Given the description of an element on the screen output the (x, y) to click on. 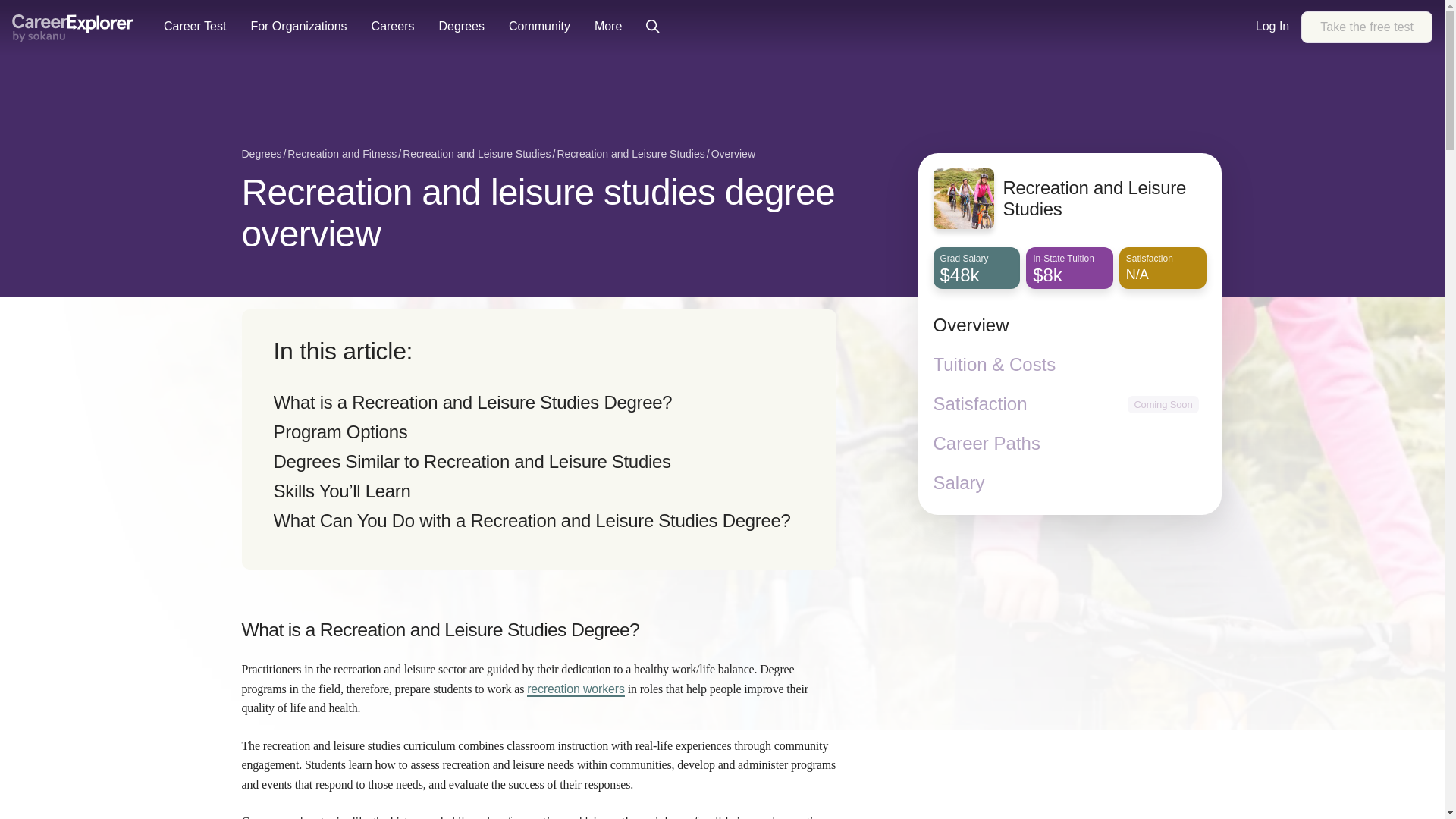
Recreation and Fitness (1366, 26)
What is a Recreation and Leisure Studies Degree? (341, 154)
Table of contents (472, 402)
CareerExplorer (340, 431)
Recreation and Leisure Studies (72, 28)
Overview (630, 154)
Degrees (733, 154)
For Organizations (261, 154)
Degrees Similar to Recreation and Leisure Studies (298, 27)
Recreation and Leisure Studies (471, 461)
Career Test (476, 154)
CareerExplorer (194, 27)
Community (72, 27)
